Given the description of an element on the screen output the (x, y) to click on. 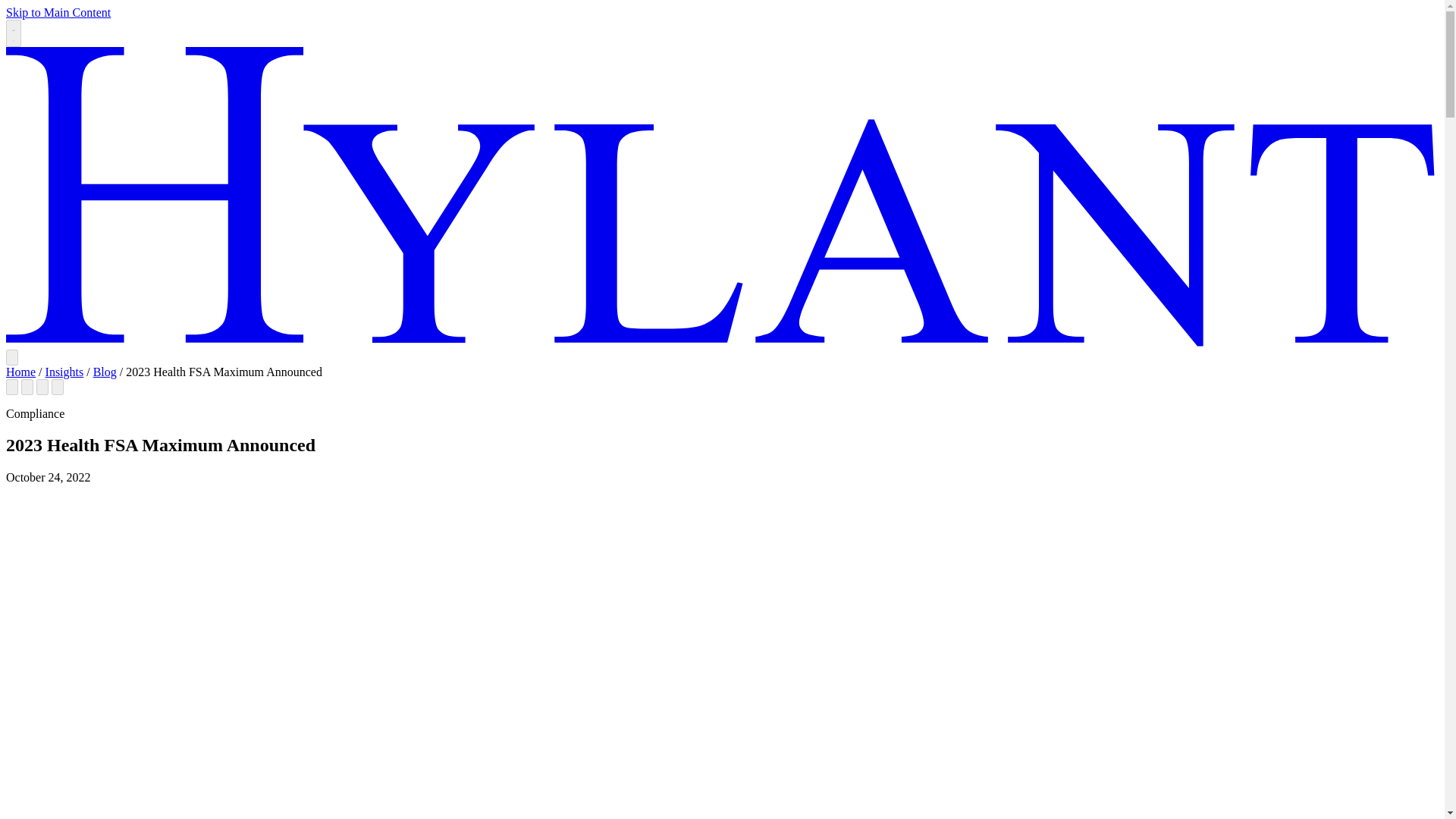
Skip to Main Content (57, 11)
